Given the description of an element on the screen output the (x, y) to click on. 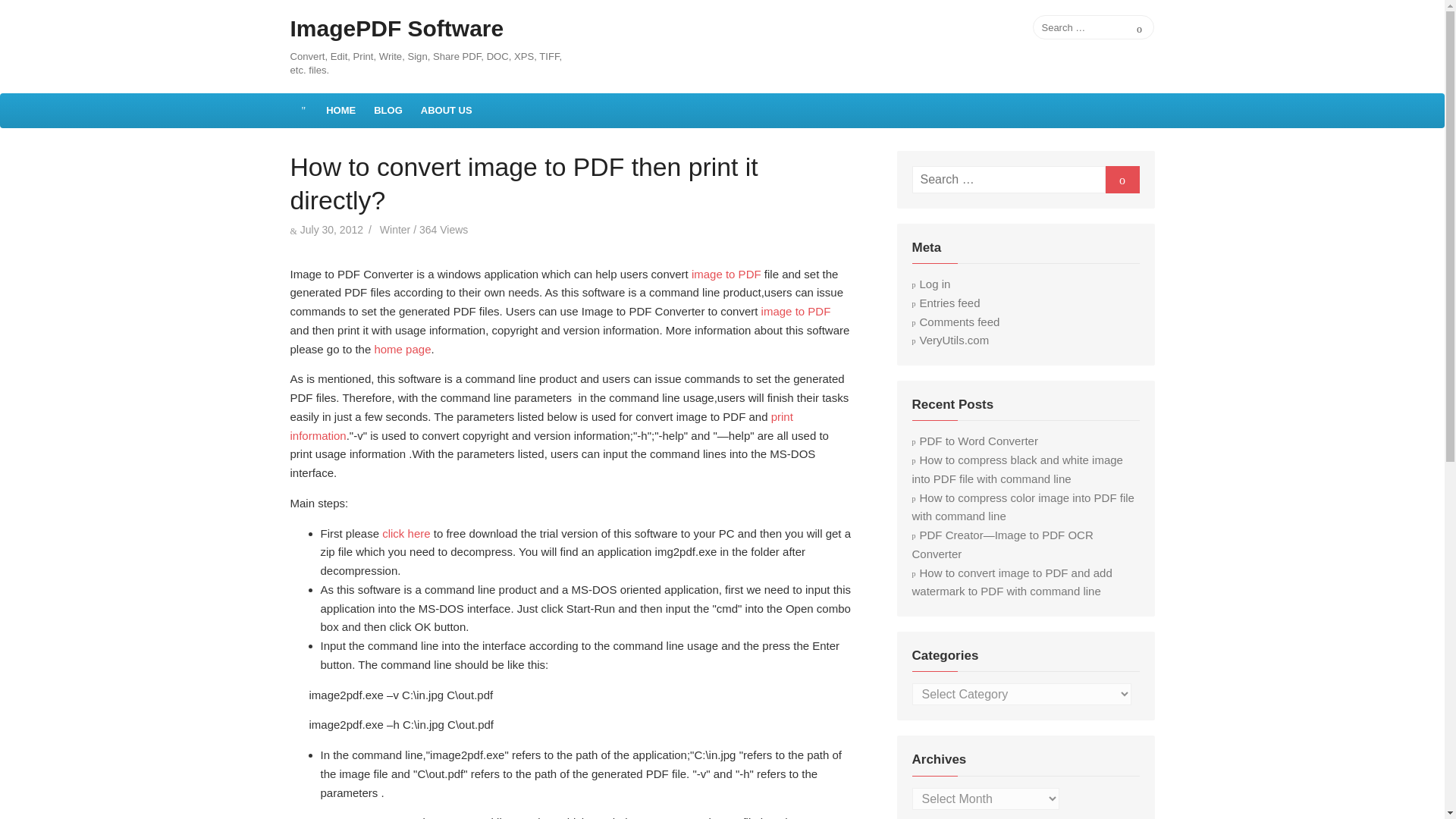
ABOUT US (446, 110)
image to PDF (796, 310)
July 30, 2012 (330, 228)
View all posts in print information (540, 426)
HOME (341, 110)
ImagePDF Software (396, 28)
Winter (395, 228)
home page (402, 349)
image to PDF (726, 273)
print information (540, 426)
BLOG (388, 110)
View all posts in image to PDF (726, 273)
View all posts in image to PDF (796, 310)
click here (405, 533)
